Given the description of an element on the screen output the (x, y) to click on. 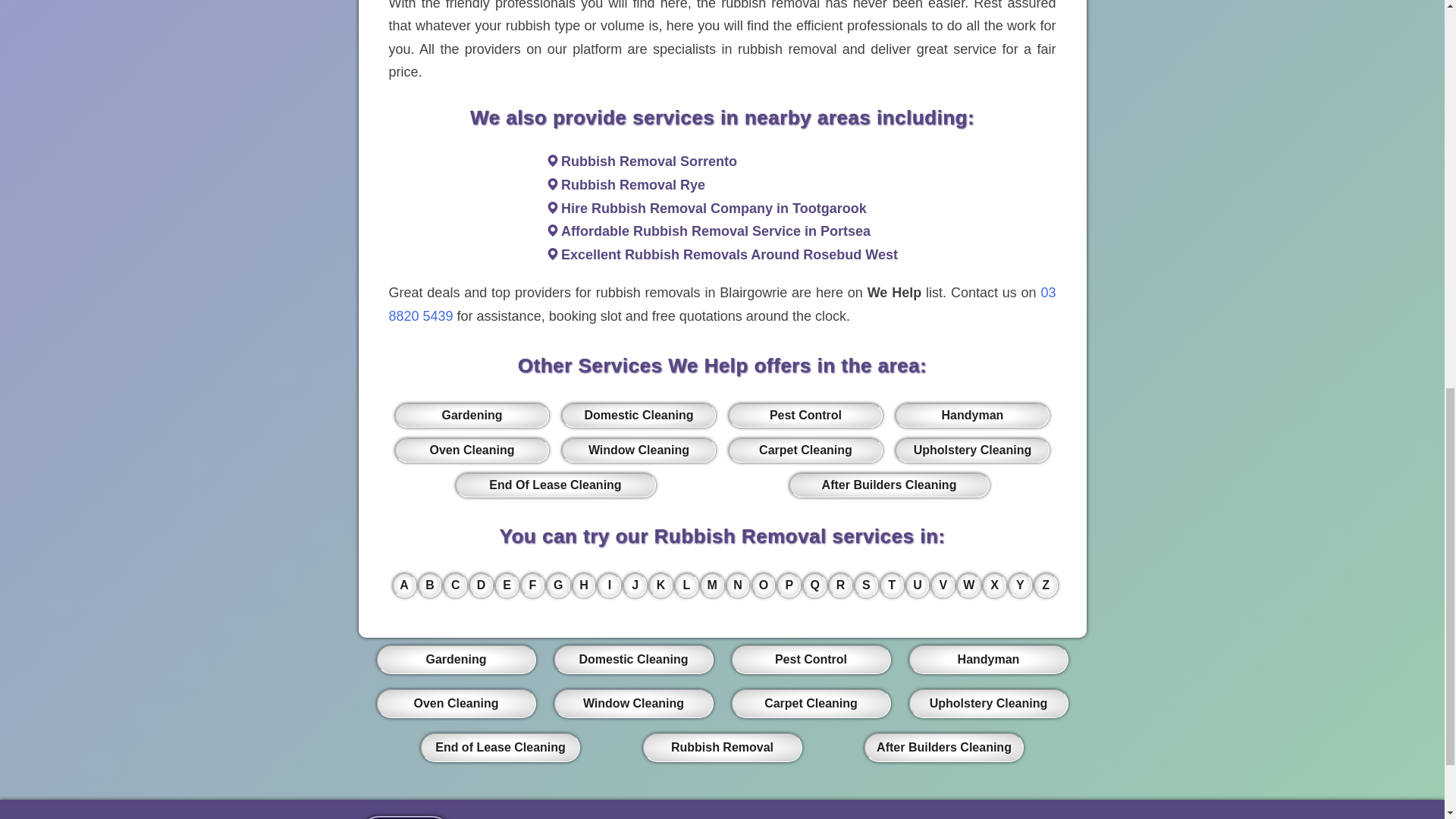
Rubbish Removal Sorrento (648, 160)
Rubbish Removal Rye (632, 184)
Affordable Rubbish Removal Service in Portsea (715, 231)
Affordable Rubbish Removal Service in Portsea (715, 231)
Upholstery Cleaning (971, 450)
After Builders Cleaning (888, 485)
Domestic Cleaning Blairgowrie 3942 (638, 415)
Excellent Rubbish Removals Around Rosebud West (729, 254)
Rubbish Removal Sorrento (648, 160)
03 8820 5439 (721, 304)
